Given the description of an element on the screen output the (x, y) to click on. 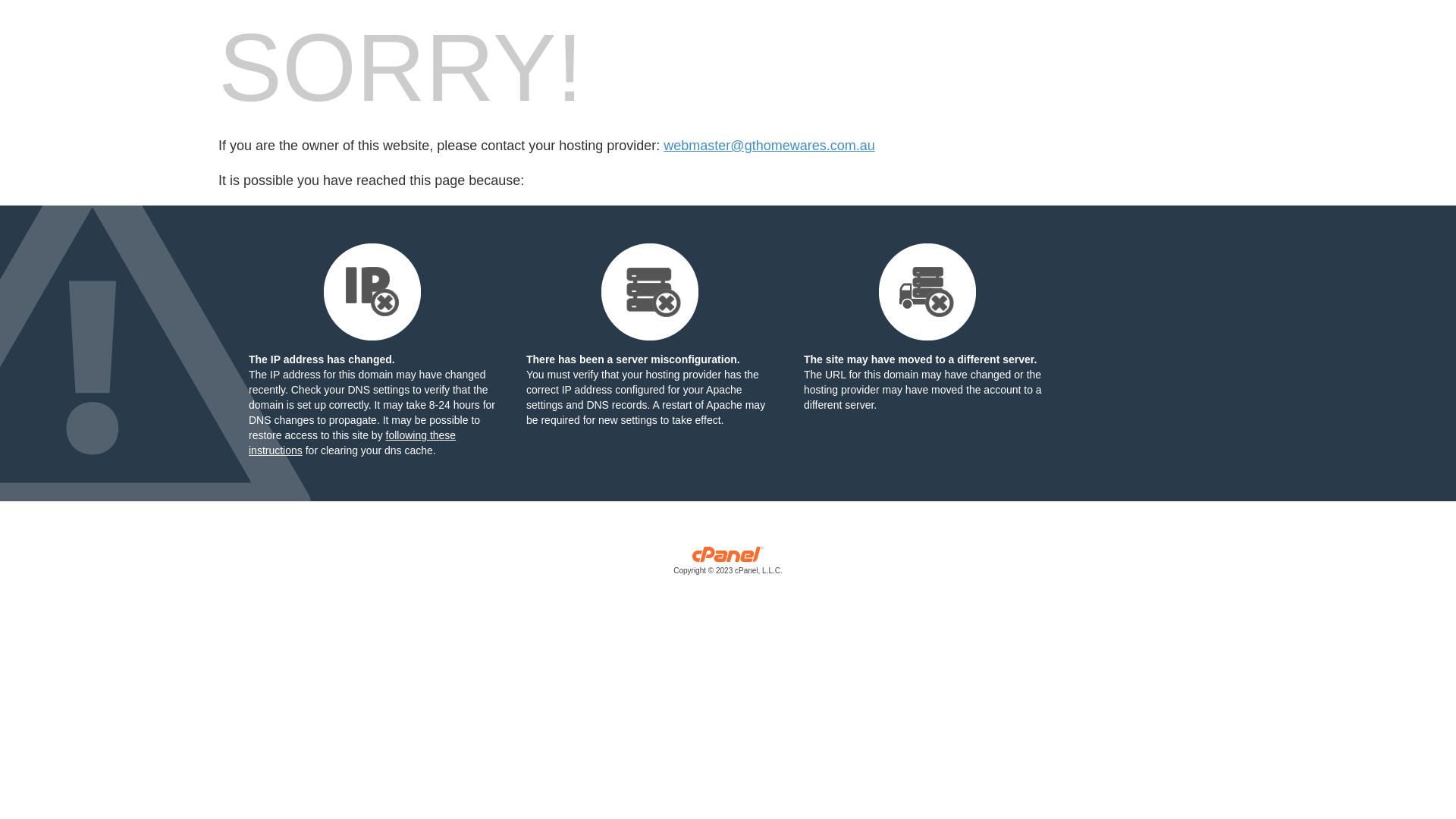
following these instructions Element type: text (351, 442)
webmaster@gthomewares.com.au Element type: text (768, 145)
